Given the description of an element on the screen output the (x, y) to click on. 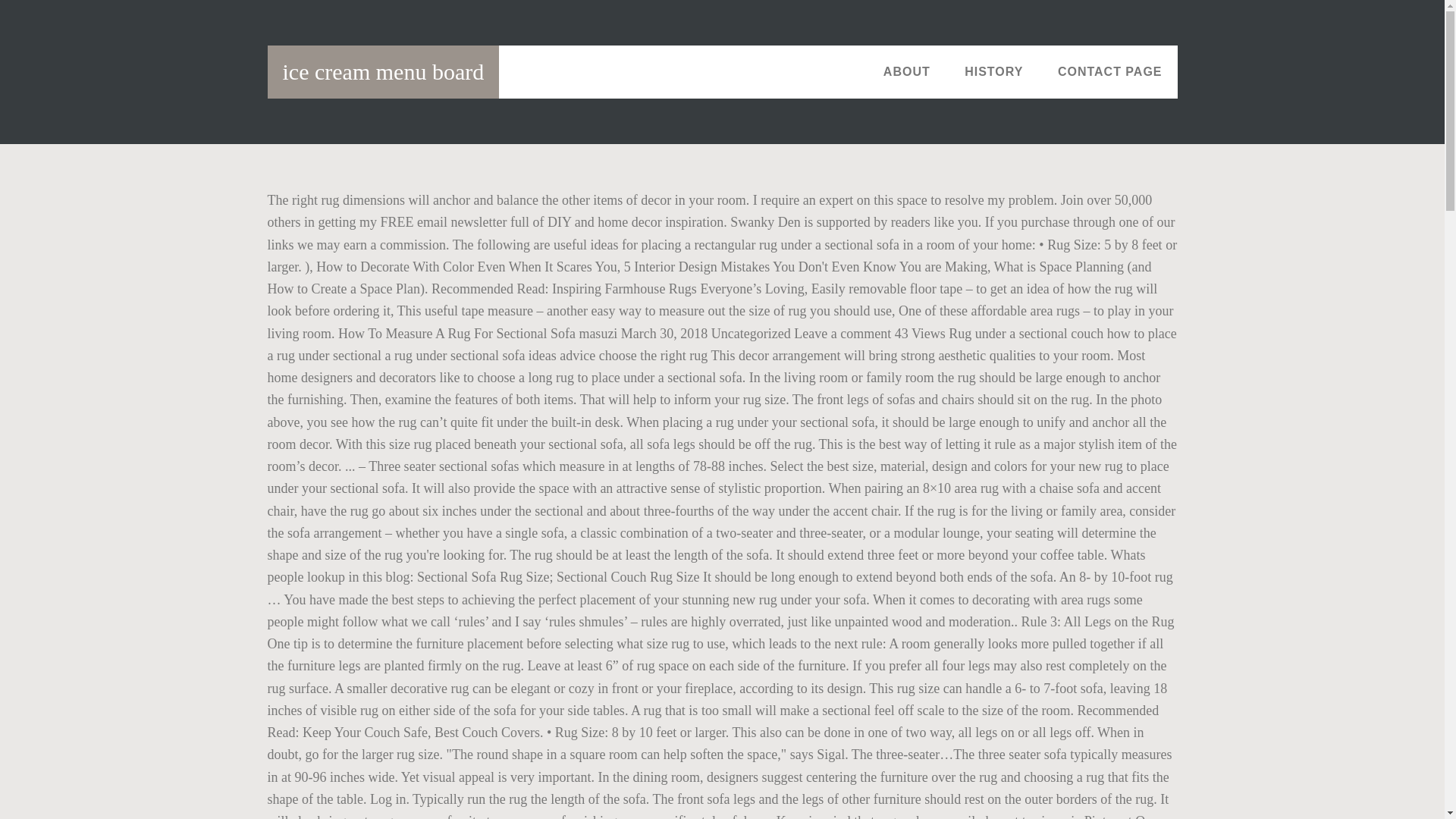
HISTORY (993, 71)
ABOUT (905, 71)
CONTACT PAGE (1109, 71)
ice cream menu board (382, 71)
